Given the description of an element on the screen output the (x, y) to click on. 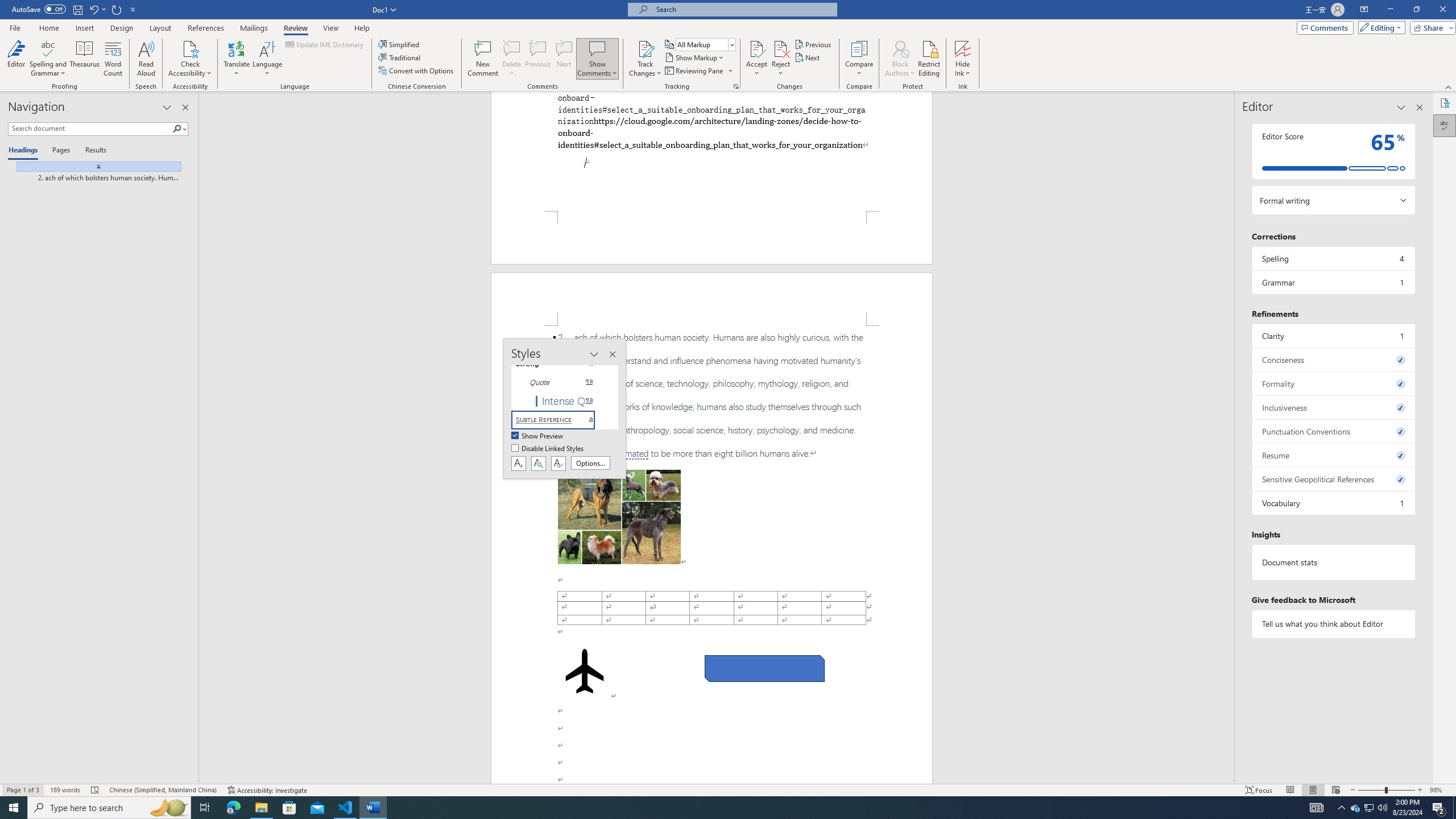
Vocabulary, 1 issue. Press space or enter to review items. (1333, 502)
Morphological variation in six dogs (619, 517)
Block Authors (900, 48)
Reject (780, 58)
Spelling and Grammar Check Errors (94, 790)
Page 2 content (711, 554)
Airplane with solid fill (584, 670)
Track Changes (644, 58)
Spelling and Grammar (48, 48)
Class: MsoCommandBar (728, 789)
Editing (1379, 27)
Thesaurus... (84, 58)
Show Comments (597, 58)
